Given the description of an element on the screen output the (x, y) to click on. 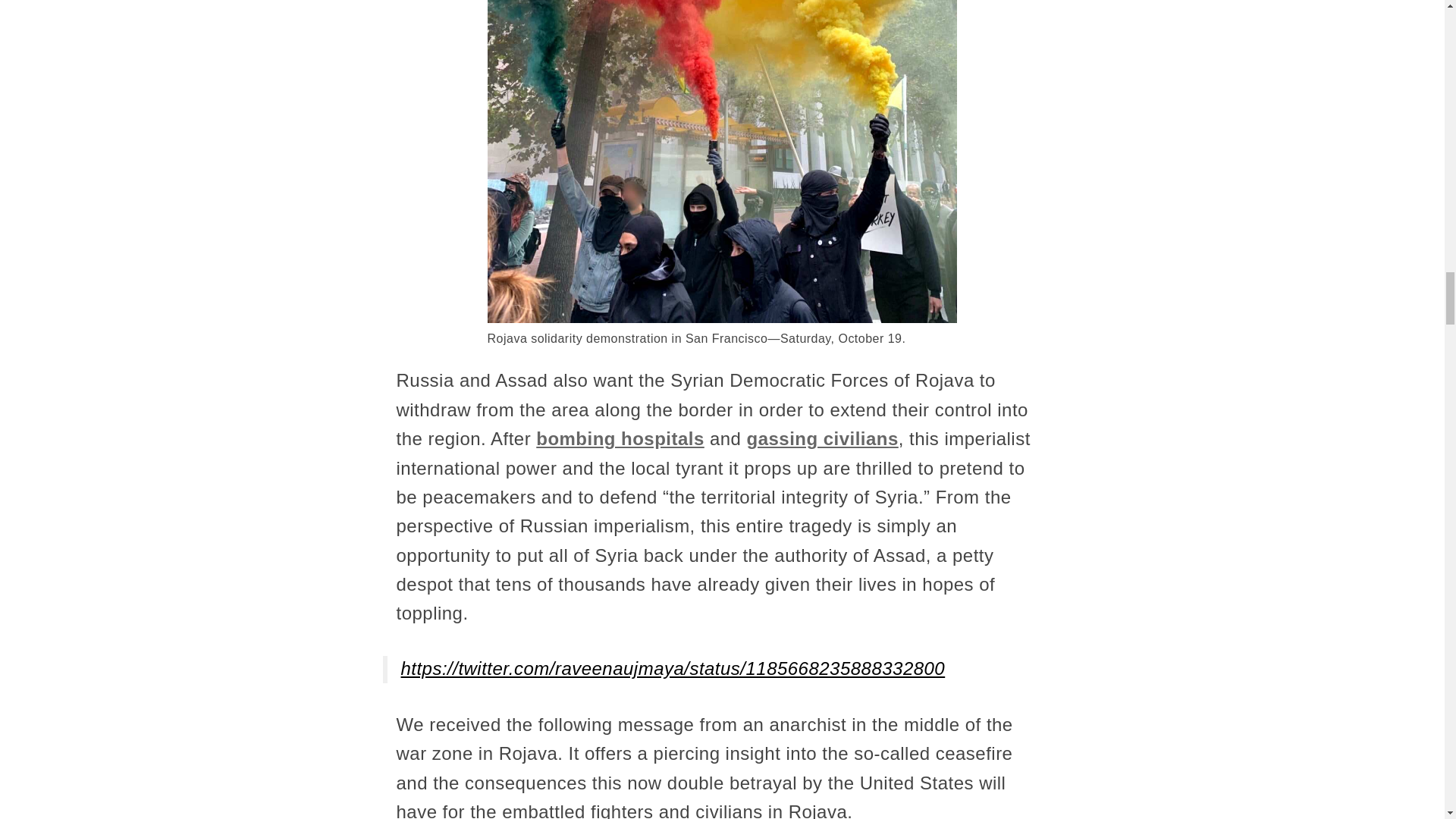
bombing hospitals (619, 438)
gassing civilians (822, 438)
